Given the description of an element on the screen output the (x, y) to click on. 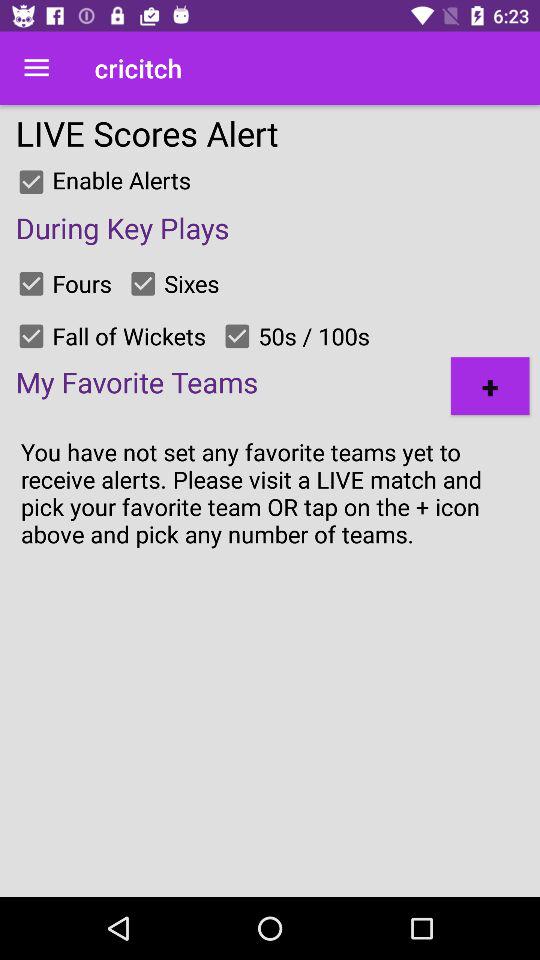
select an option (143, 283)
